Given the description of an element on the screen output the (x, y) to click on. 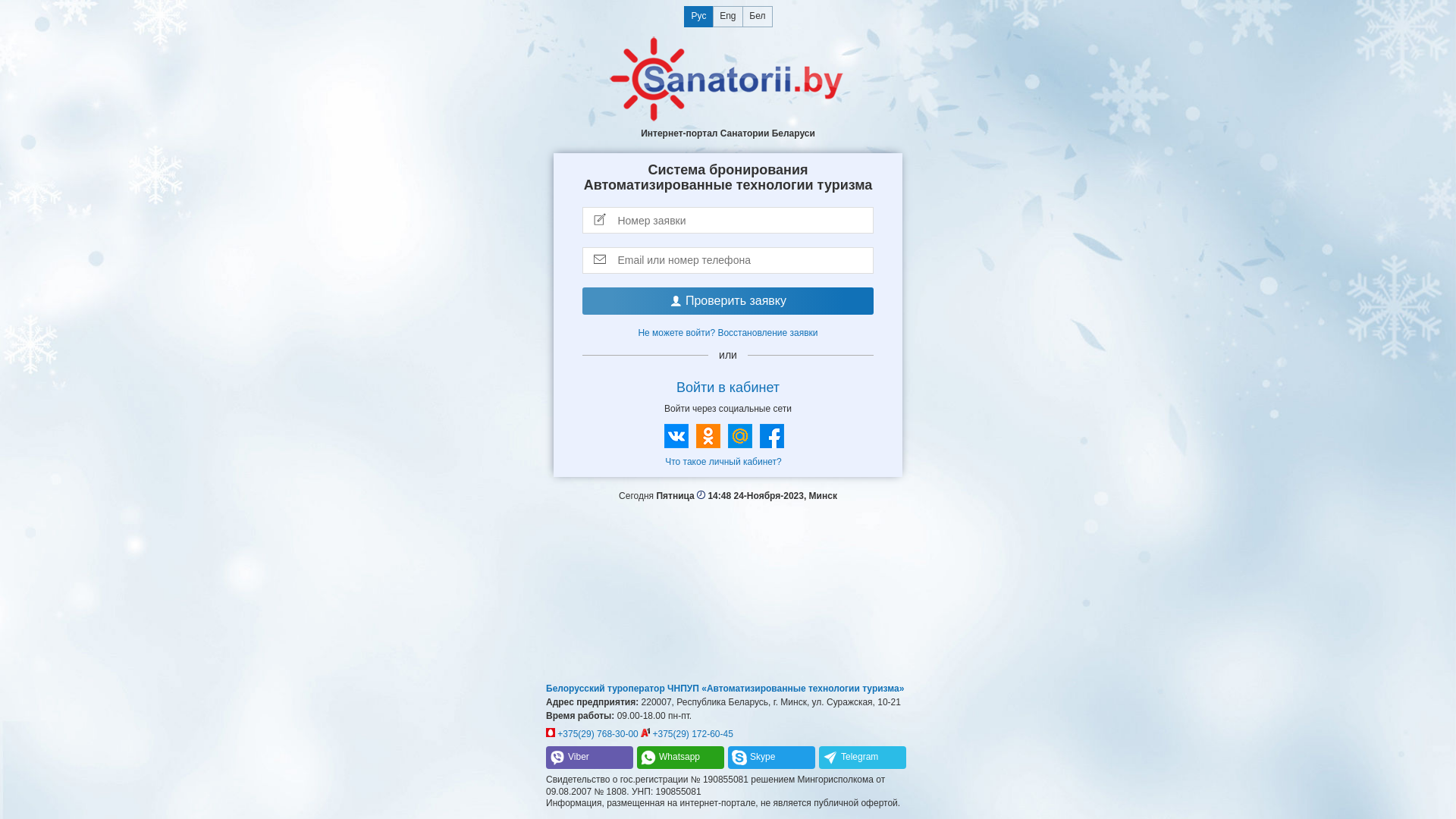
Eng Element type: text (727, 16)
+375(29) 172-60-45 Element type: text (686, 733)
Skype Element type: text (771, 757)
Whatsapp Element type: text (680, 757)
+375(29) 768-30-00 Element type: text (592, 733)
Odnoklassniki Element type: hover (708, 435)
Mail.ru Element type: hover (740, 435)
Viber Element type: text (589, 757)
VK Element type: hover (676, 435)
Telegram Element type: text (862, 757)
Facebook Element type: hover (771, 435)
